Given the description of an element on the screen output the (x, y) to click on. 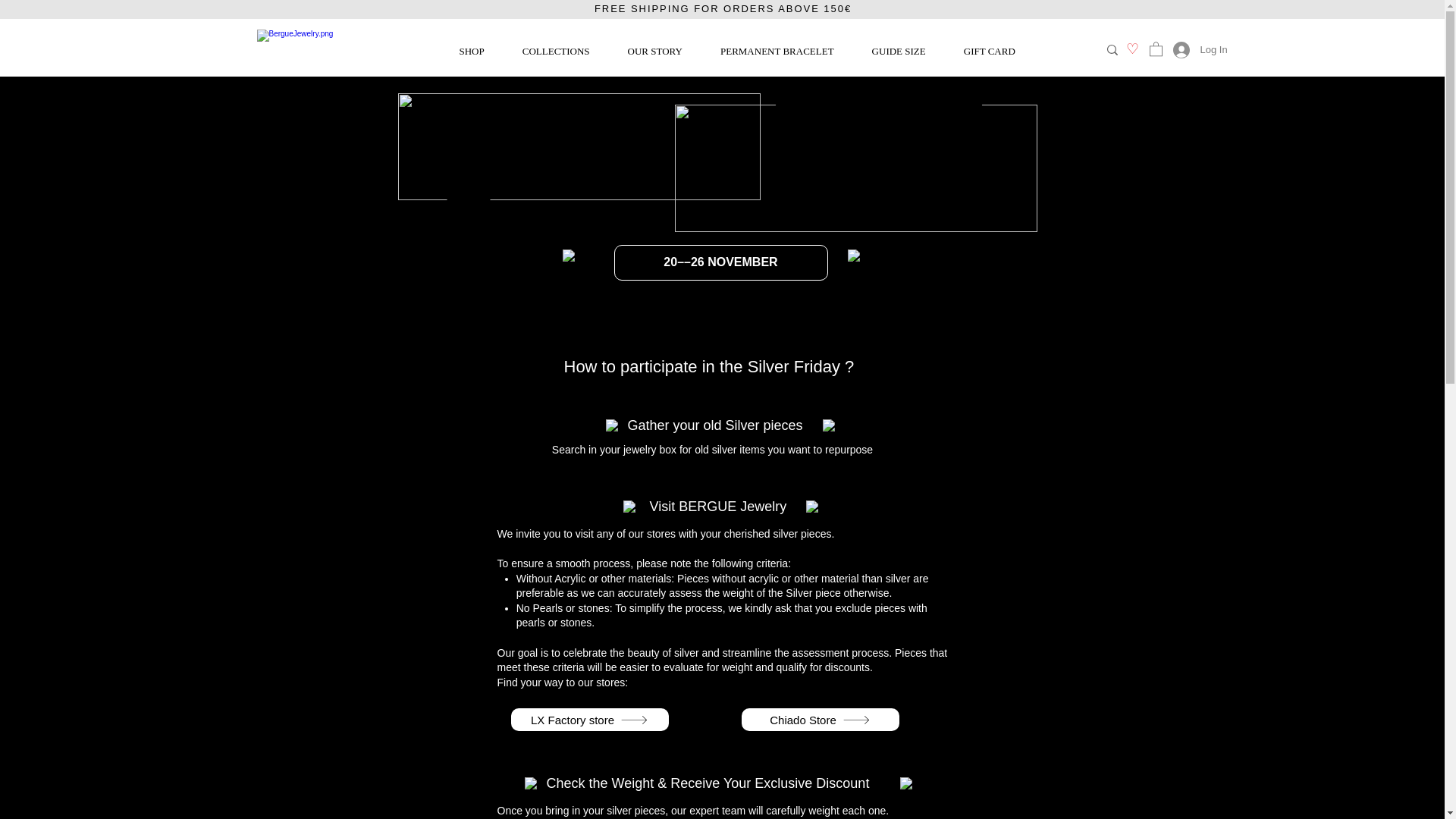
OUR STORY (655, 51)
SHOP (471, 51)
GIFT CARD (989, 51)
COLLECTIONS (555, 51)
PERMANENT BRACELET (777, 51)
LX Factory store (589, 719)
GUIDE SIZE (898, 51)
Chiado Store (820, 719)
